Given the description of an element on the screen output the (x, y) to click on. 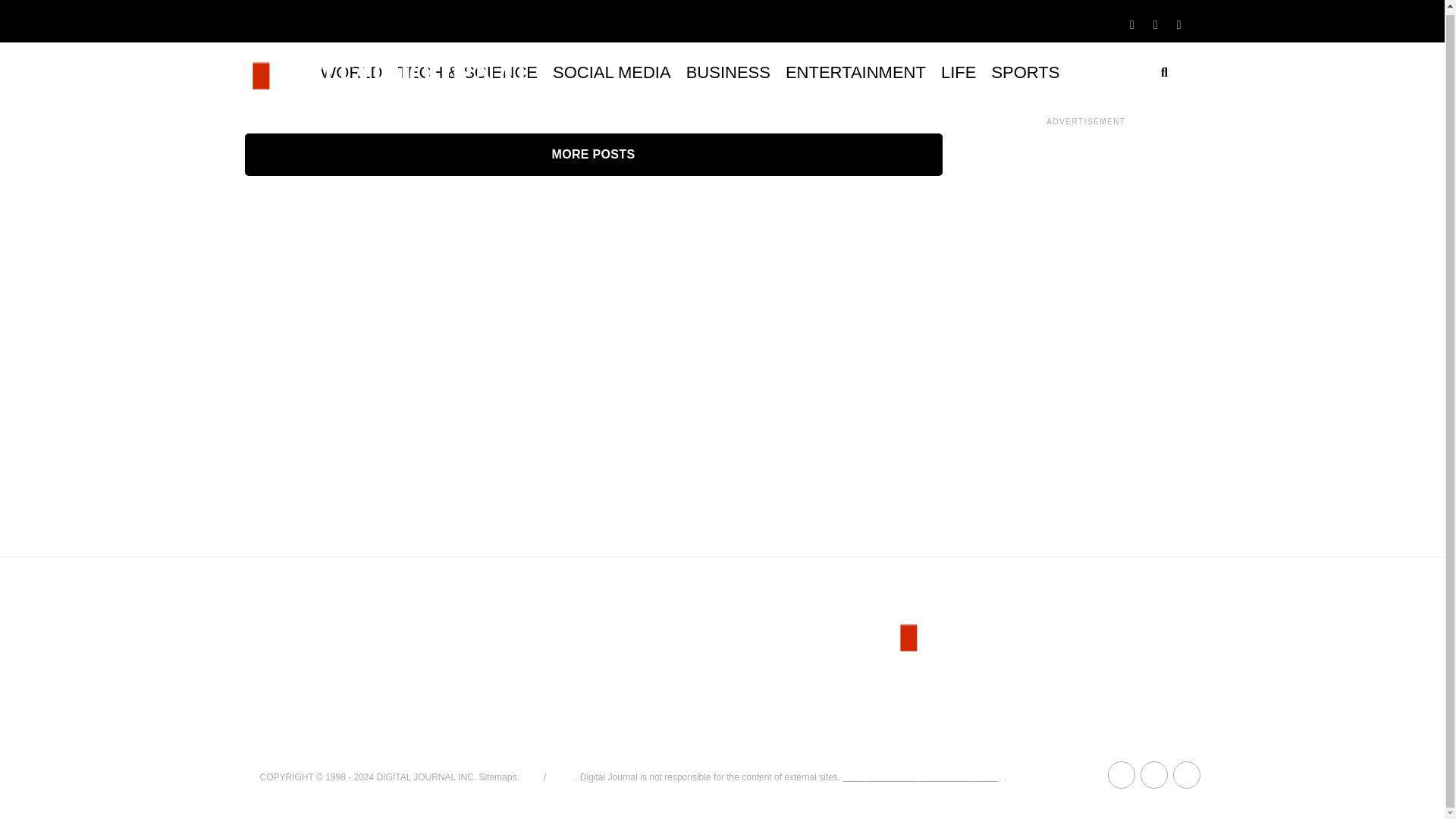
XML (530, 776)
INSIGHT FORUM (304, 651)
MORE POSTS (593, 154)
News (560, 776)
Read more about our external linking (923, 776)
FEATURED: PRODIGY PRESS WIRE (677, 651)
FEATURED: ACCESSWIRE (651, 631)
PRIVACY POLICY (307, 710)
ABOUT US (288, 631)
WORLD (351, 72)
